Given the description of an element on the screen output the (x, y) to click on. 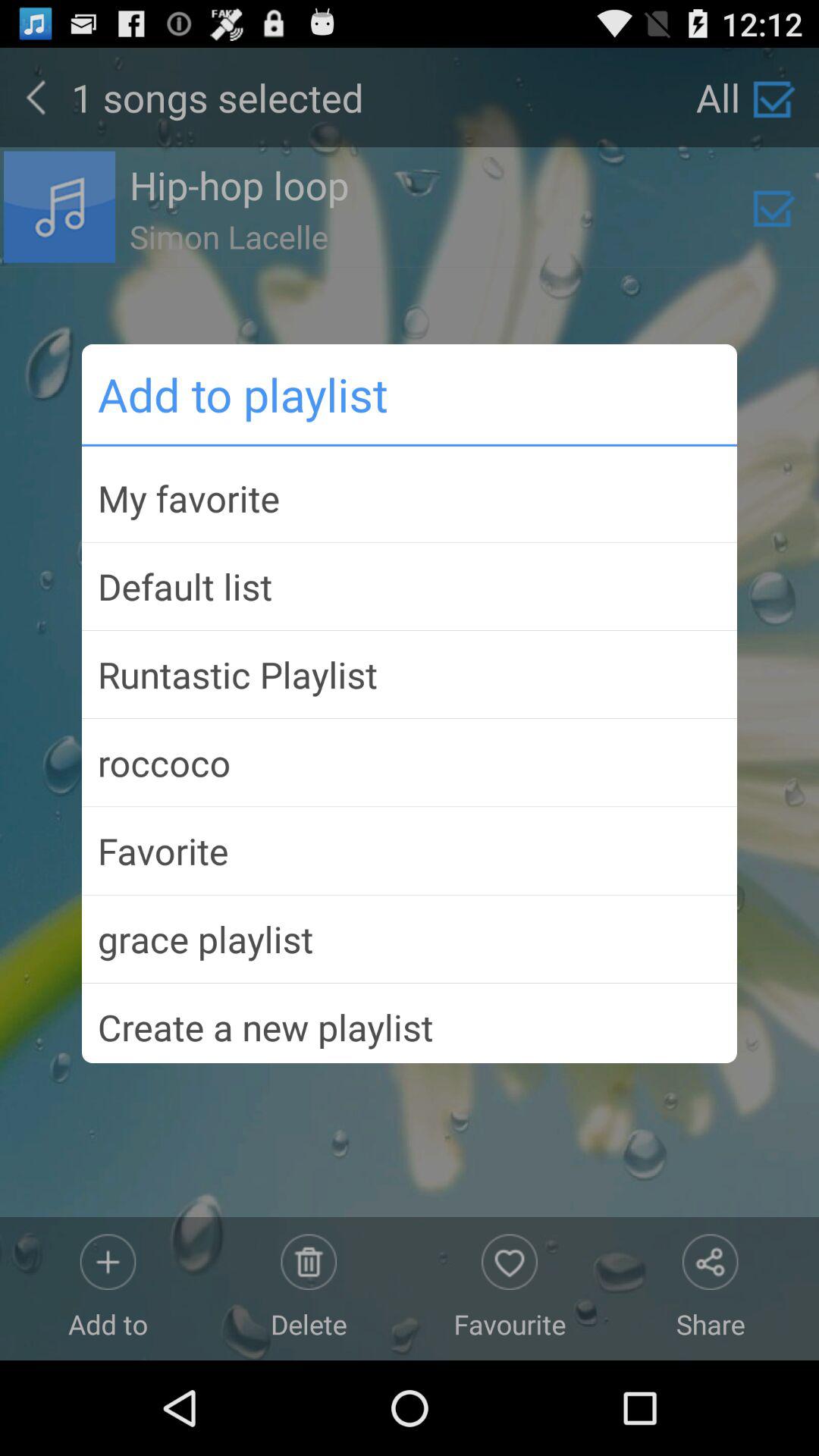
open the grace playlist item (409, 938)
